Given the description of an element on the screen output the (x, y) to click on. 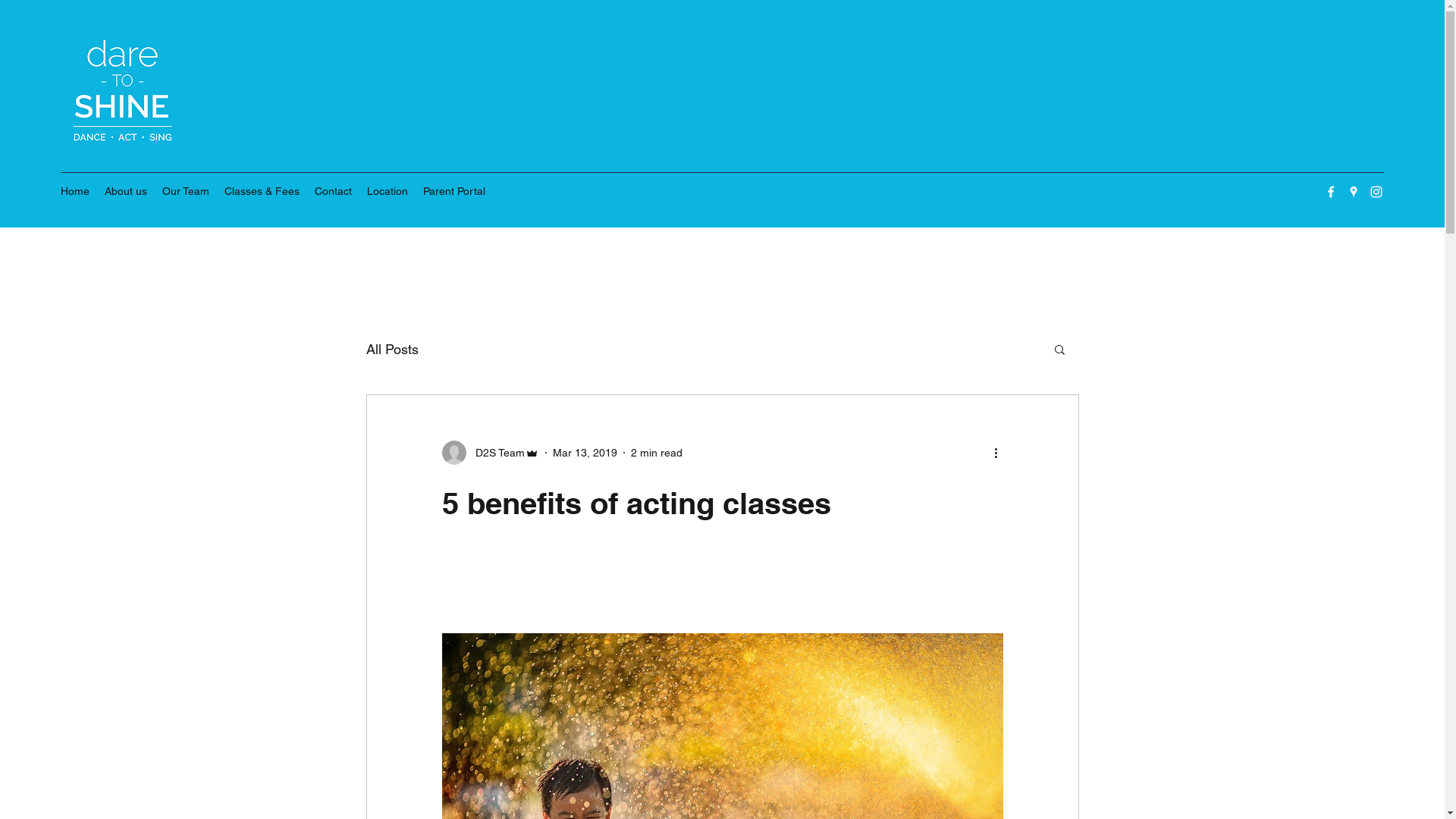
Home Element type: text (75, 191)
Classes & Fees Element type: text (261, 191)
Contact Element type: text (333, 191)
About us Element type: text (125, 191)
Our Team Element type: text (185, 191)
Parent Portal Element type: text (453, 191)
Location Element type: text (387, 191)
All Posts Element type: text (391, 349)
